Given the description of an element on the screen output the (x, y) to click on. 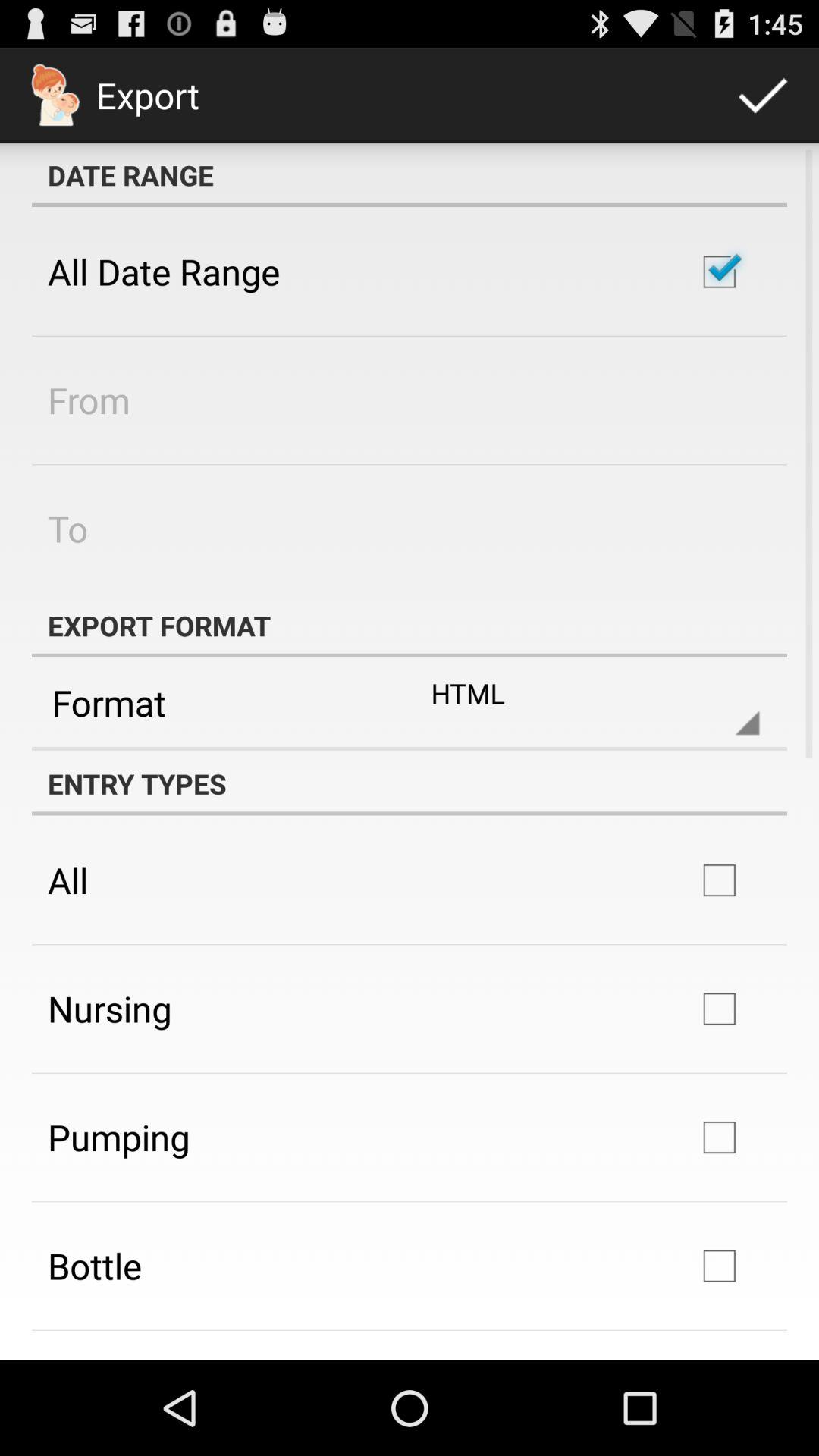
click the item next to export icon (763, 95)
